Given the description of an element on the screen output the (x, y) to click on. 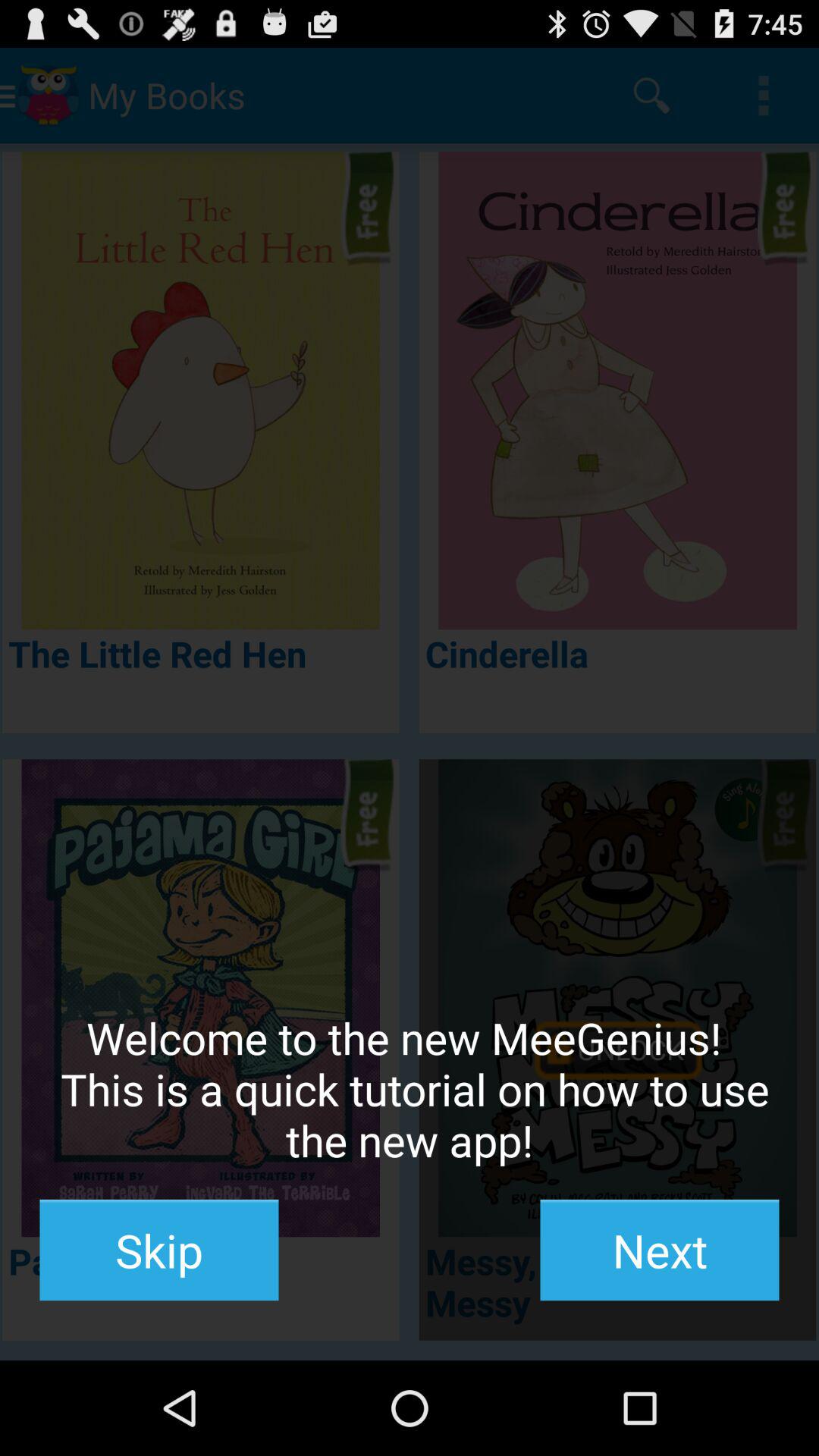
turn on button next to the skip (659, 1249)
